Given the description of an element on the screen output the (x, y) to click on. 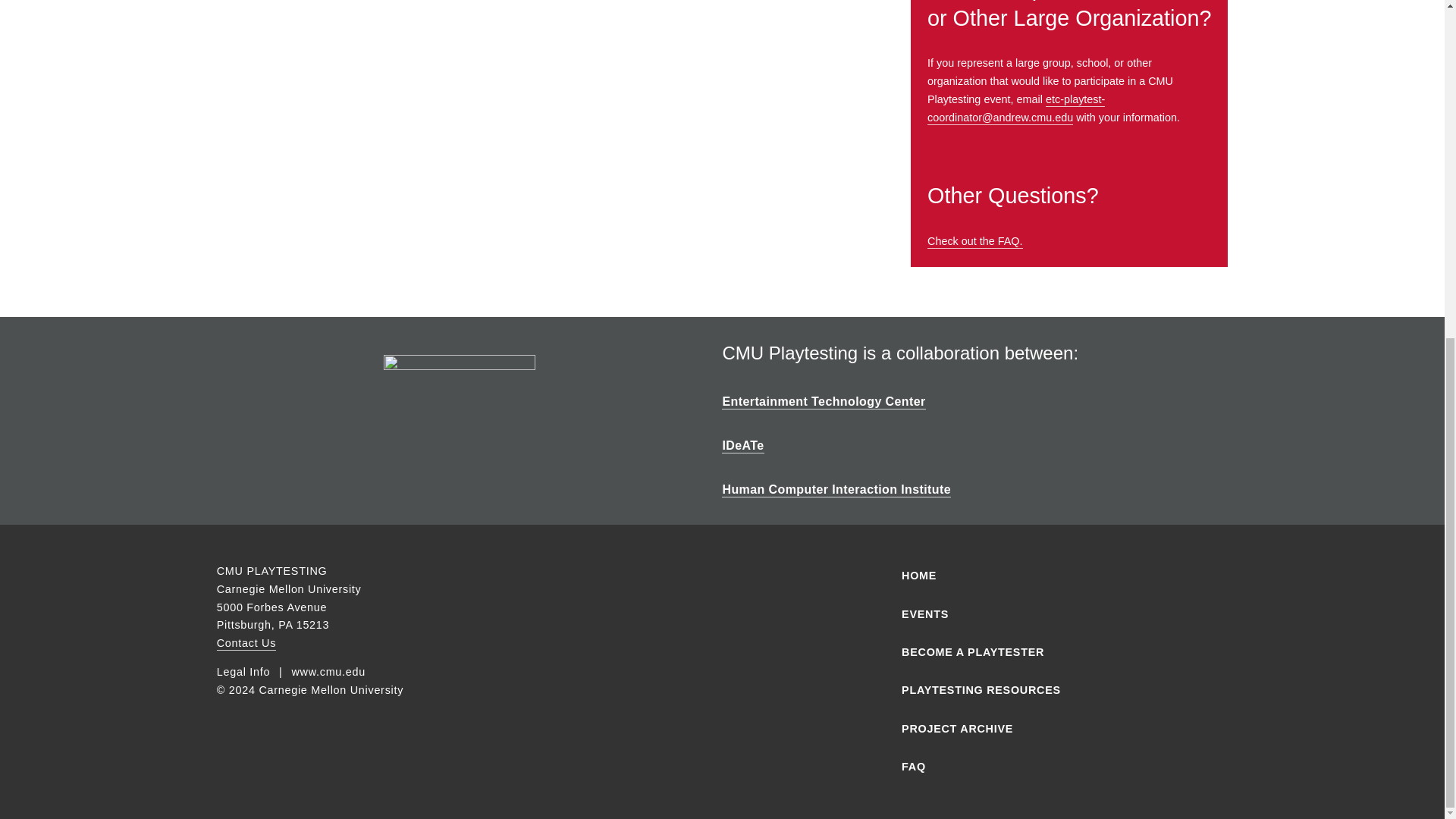
PLAYTESTING RESOURCES (1043, 690)
Legal Info (242, 672)
CMU on Facebook (564, 573)
Check out the FAQ. (975, 241)
Contact Us (246, 643)
HOME (1043, 575)
BECOME A PLAYTESTER (1043, 652)
PROJECT ARCHIVE (1043, 728)
EVENTS (1043, 614)
IDeATe (742, 445)
